Given the description of an element on the screen output the (x, y) to click on. 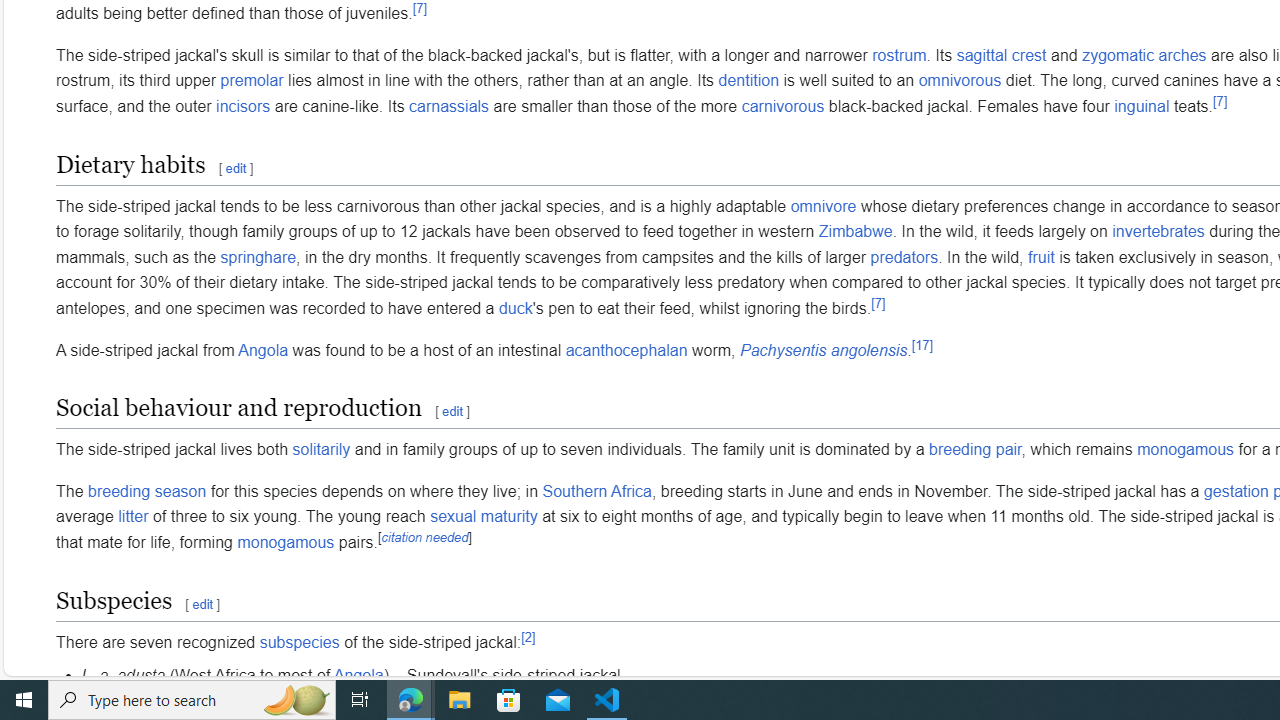
breeding season (147, 490)
solitarily (320, 449)
springhare (258, 256)
incisors (243, 106)
predators (904, 256)
omnivorous (959, 81)
inguinal (1141, 106)
zygomatic arches (1144, 55)
fruit (1040, 256)
Zimbabwe (855, 232)
rostrum (898, 55)
Southern Africa (596, 490)
Pachysentis angolensis (822, 350)
monogamous (285, 542)
citation needed (424, 537)
